Given the description of an element on the screen output the (x, y) to click on. 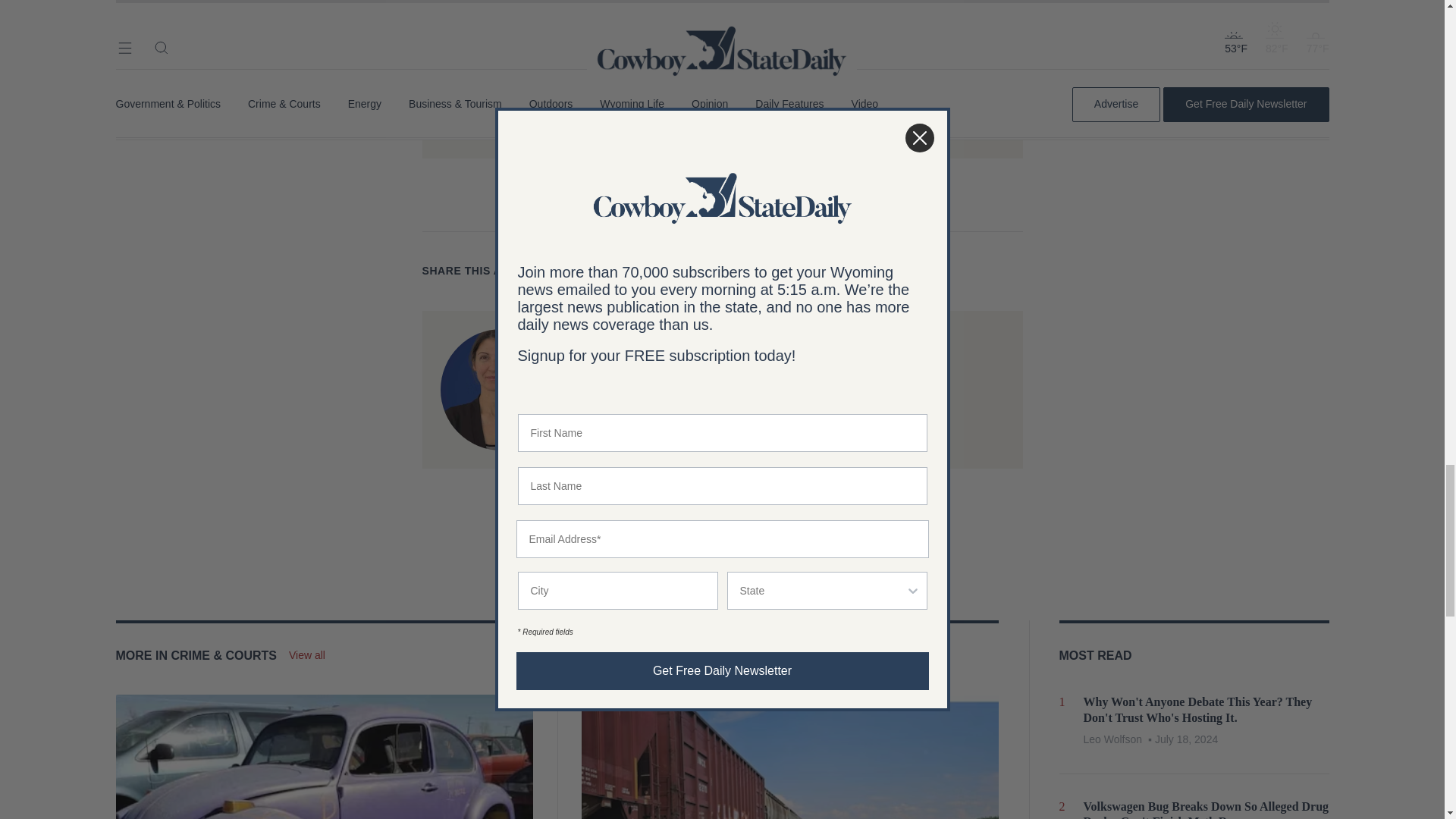
Copy to clipboard (664, 271)
